Given the description of an element on the screen output the (x, y) to click on. 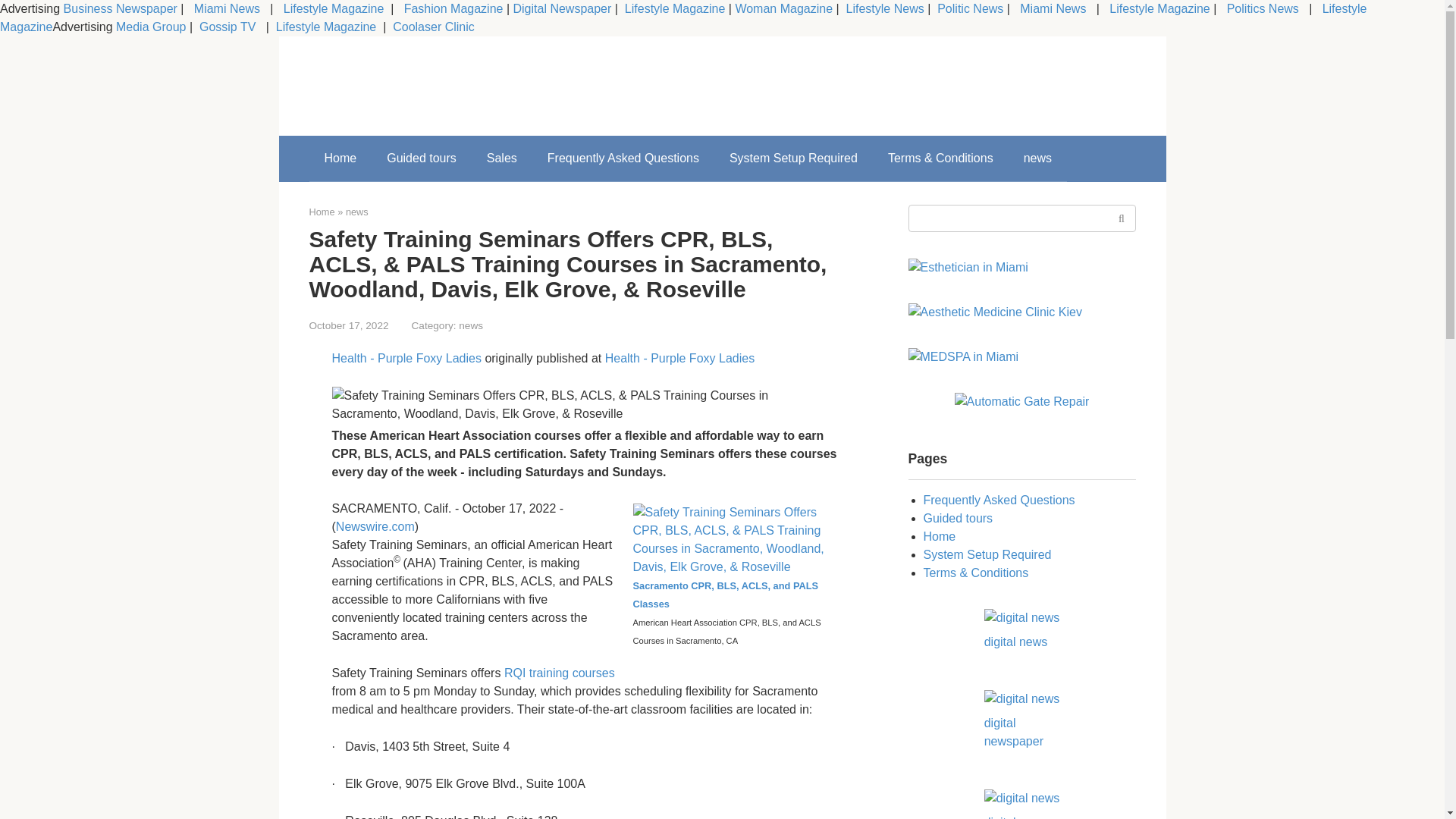
Coolaser Clinic (433, 26)
Home (321, 211)
Lifestyle News (883, 8)
Frequently Asked Questions (623, 157)
Business Newspaper (120, 8)
Politic News (969, 8)
Health - Purple Foxy Ladies (406, 358)
news (357, 211)
Digital Newspaper (561, 8)
Miami News (1052, 8)
